Given the description of an element on the screen output the (x, y) to click on. 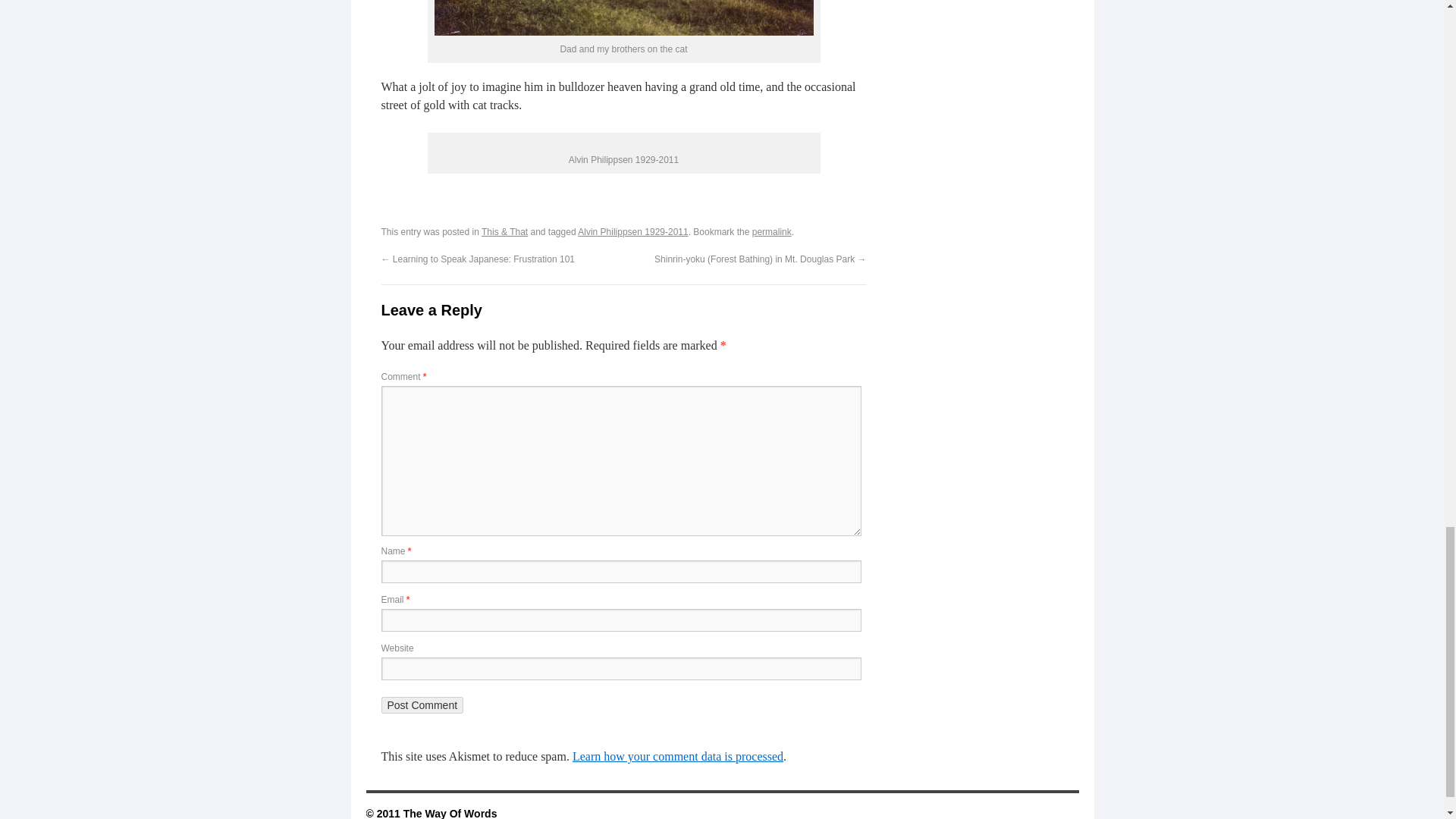
Post Comment (421, 704)
Alvin Philippsen 1929-2011 (632, 231)
Post Comment (421, 704)
Learn how your comment data is processed (677, 756)
permalink (772, 231)
